Given the description of an element on the screen output the (x, y) to click on. 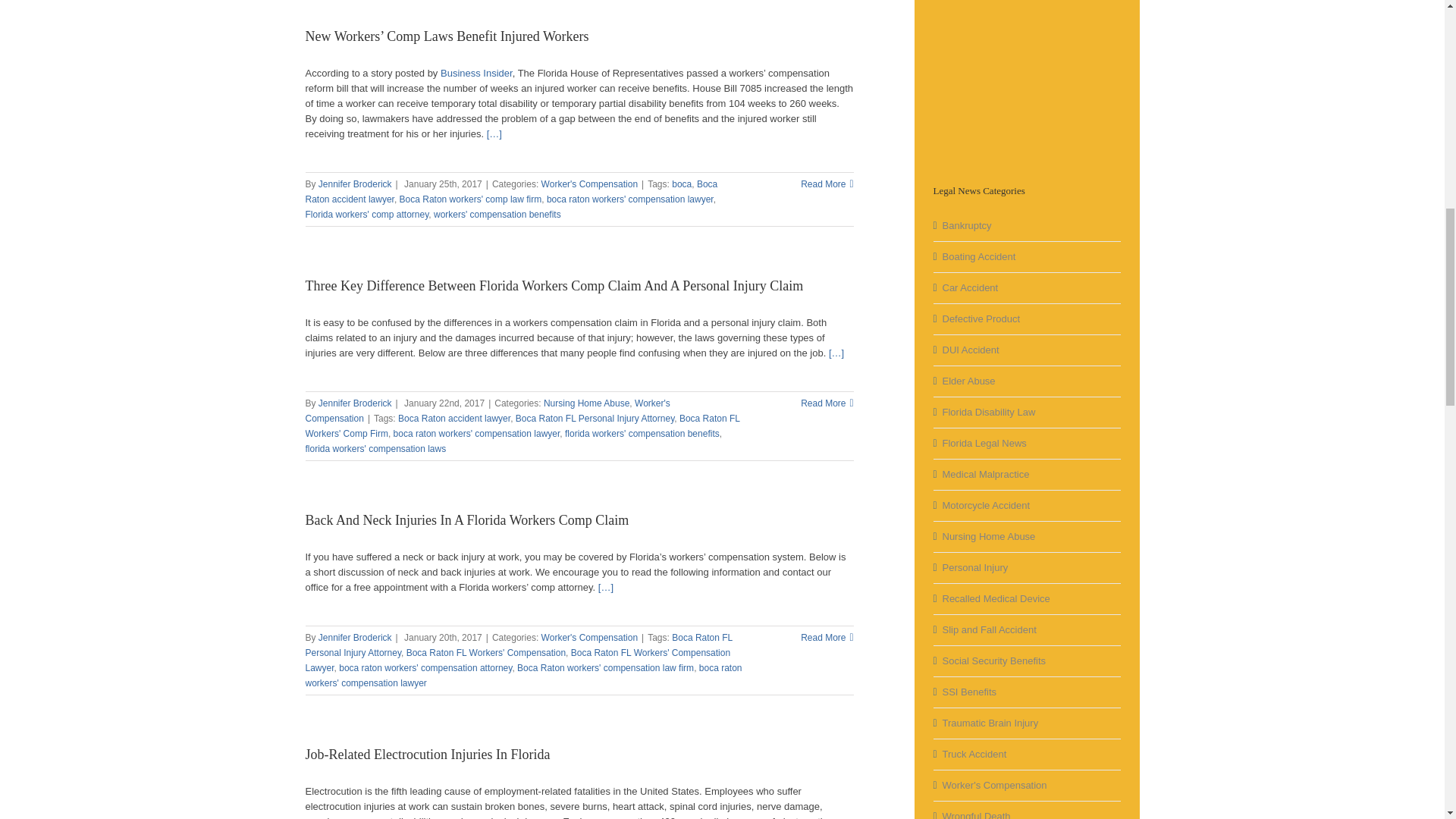
Posts by Jennifer Broderick (354, 403)
Posts by Jennifer Broderick (354, 637)
Posts by Jennifer Broderick (354, 184)
